Given the description of an element on the screen output the (x, y) to click on. 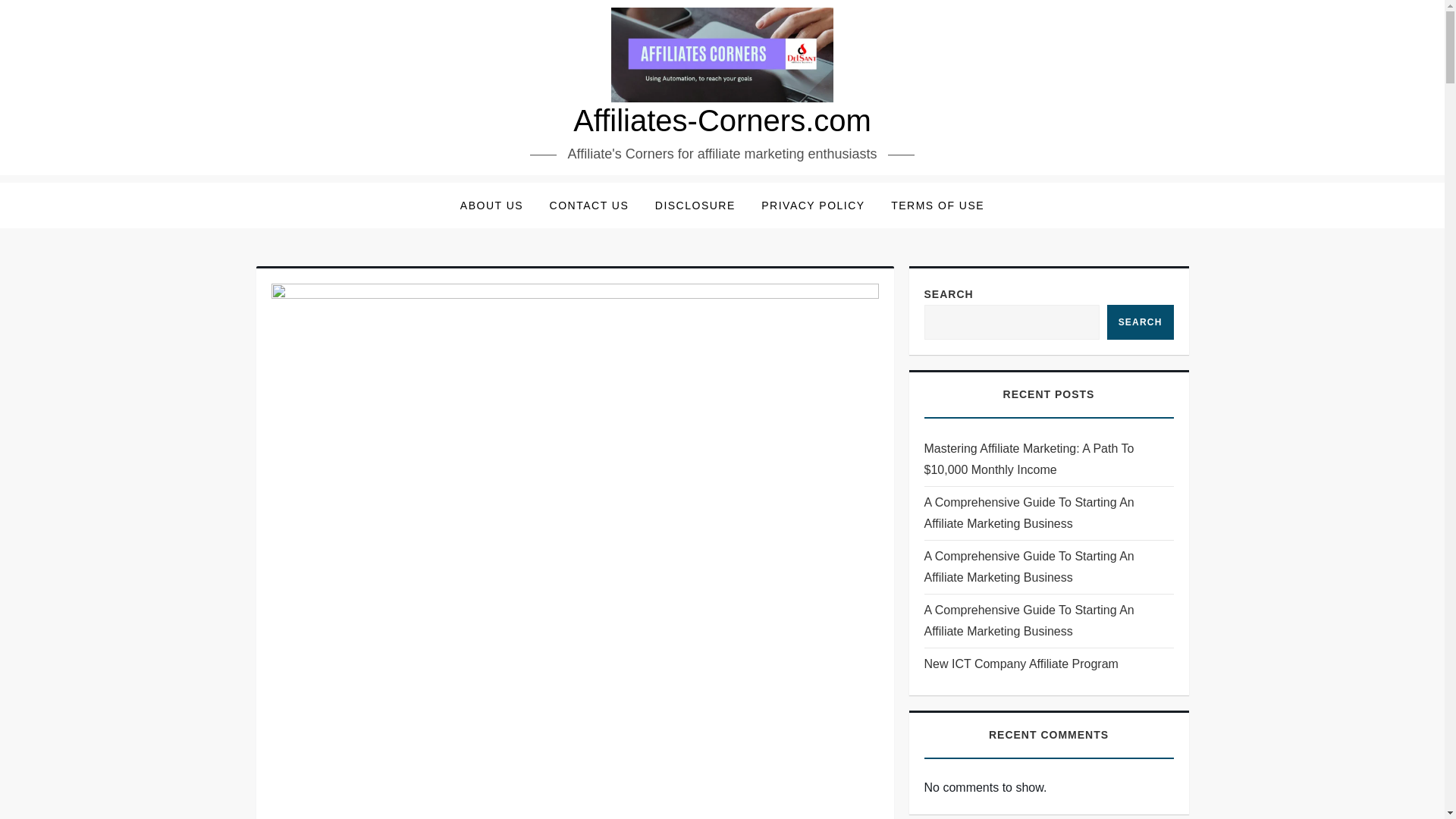
ABOUT US (491, 205)
PRIVACY POLICY (812, 205)
Affiliates-Corners.com (721, 120)
CONTACT US (589, 205)
DISCLOSURE (694, 205)
TERMS OF USE (937, 205)
